Given the description of an element on the screen output the (x, y) to click on. 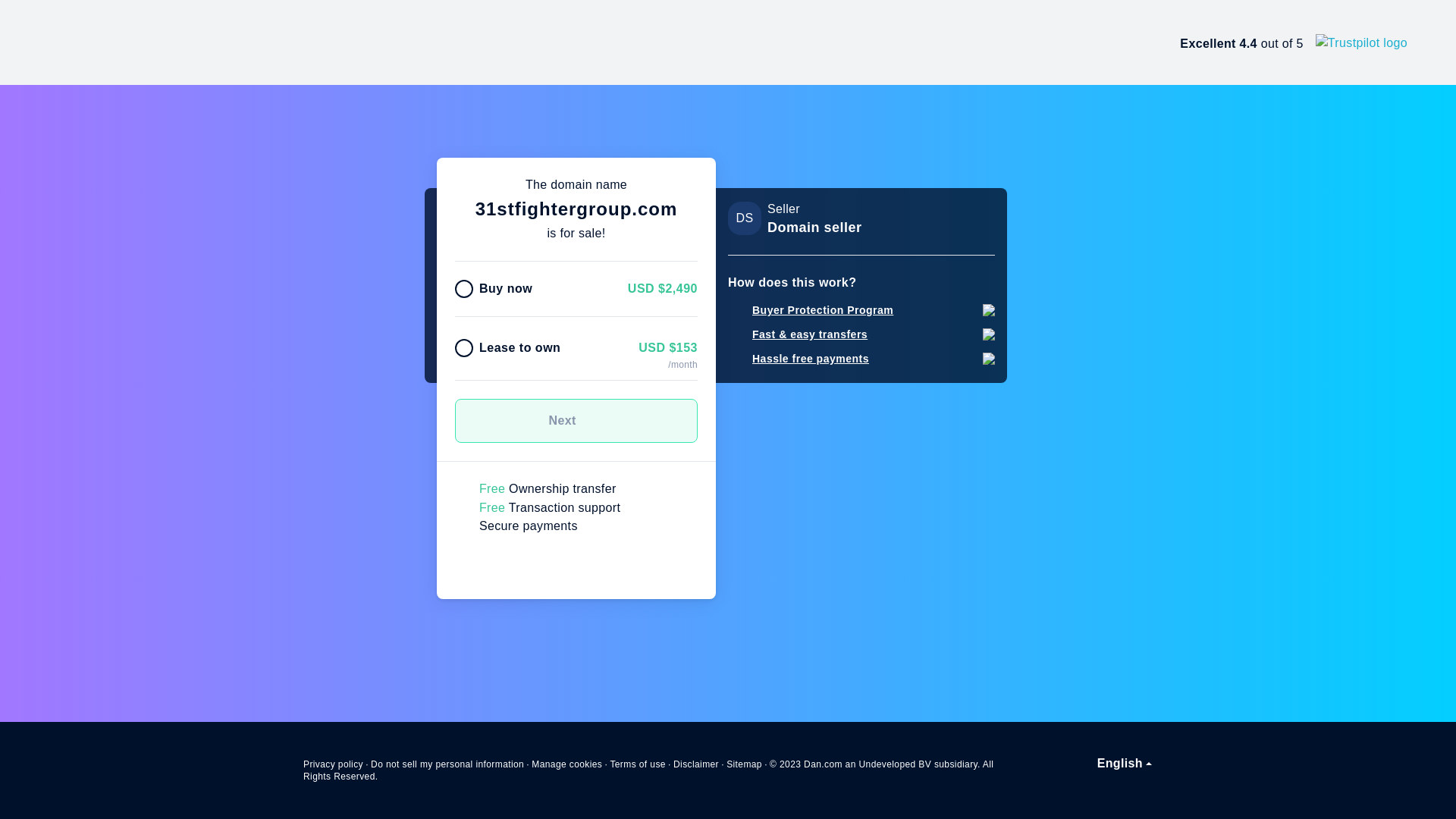
English Element type: text (1124, 763)
Terms of use Element type: text (637, 764)
Do not sell my personal information Element type: text (447, 764)
Privacy policy Element type: text (333, 764)
Disclaimer Element type: text (695, 764)
Sitemap Element type: text (744, 764)
Excellent 4.4 out of 5 Element type: text (1293, 42)
Next
) Element type: text (576, 420)
Manage cookies Element type: text (566, 764)
